Given the description of an element on the screen output the (x, y) to click on. 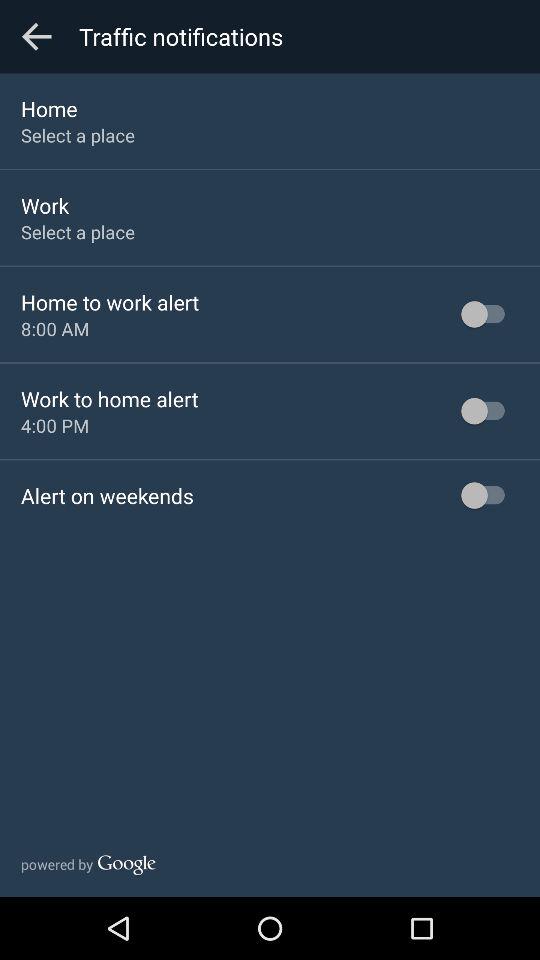
swipe to alert on weekends (107, 495)
